Given the description of an element on the screen output the (x, y) to click on. 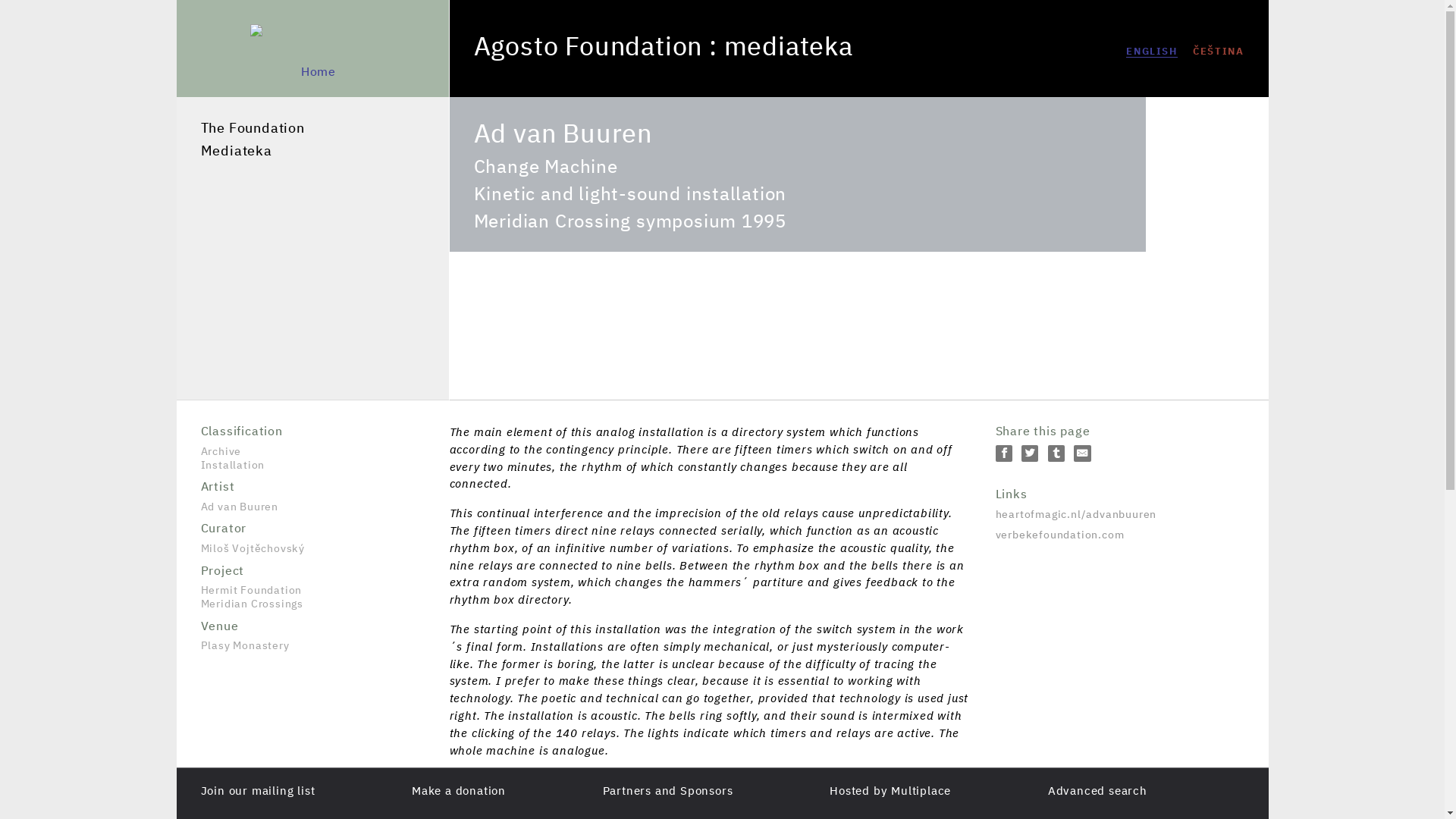
Mediateka (311, 151)
Installation (312, 465)
Home (312, 72)
Agosto Foundation (587, 48)
Partners and Sponsors (667, 790)
Home (587, 48)
Multiplace (920, 790)
Plasy Monastery (312, 631)
Archive (312, 441)
The Foundation (311, 128)
Ad van Buuren (1150, 51)
ENGLISH (1150, 51)
Ad van Buuren (312, 493)
Join our mailing list (257, 790)
verbekefoundation.com (1118, 535)
